Given the description of an element on the screen output the (x, y) to click on. 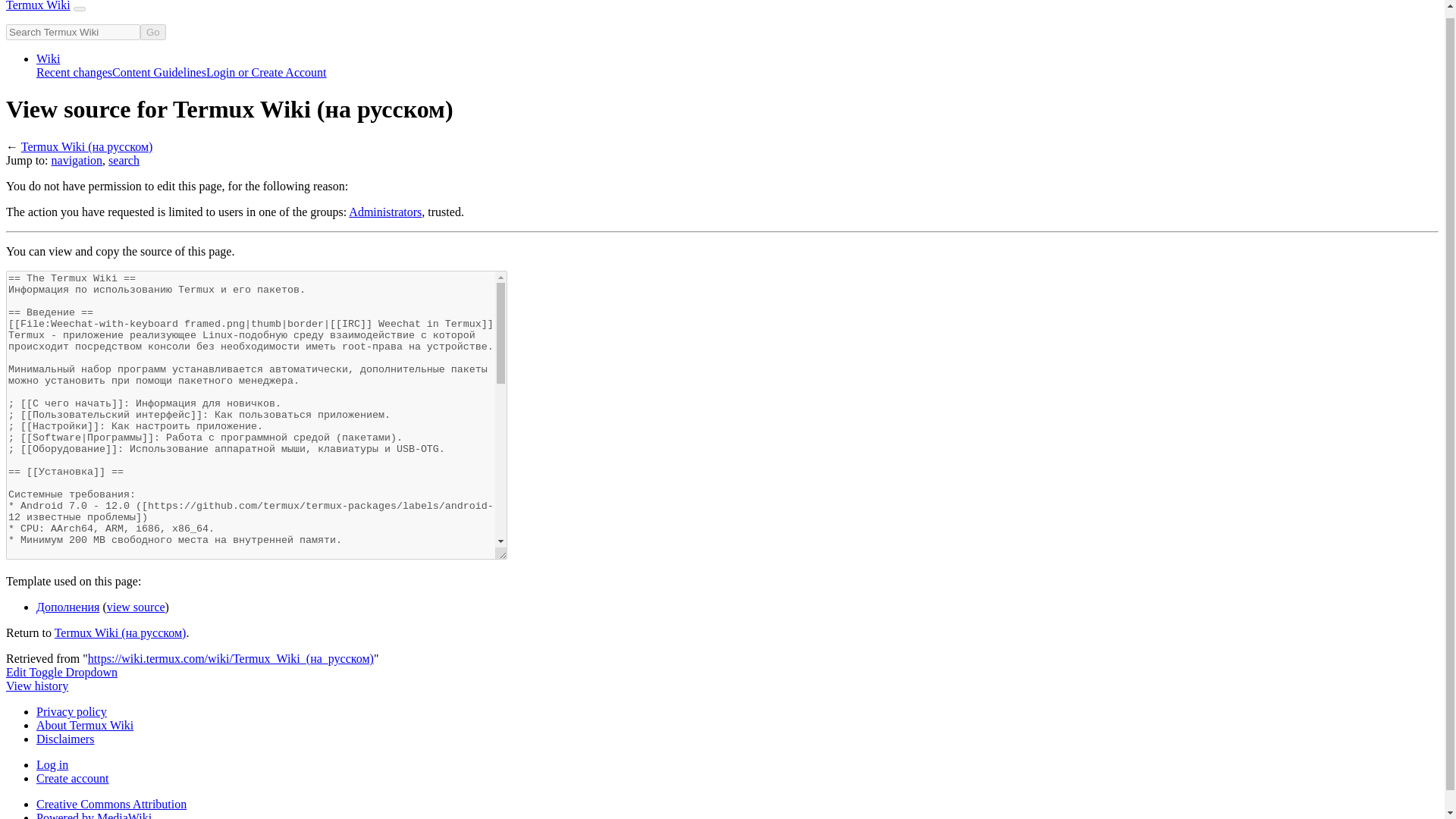
view source (135, 606)
Create account (72, 778)
Log in (52, 764)
Go to a page with this exact name if it exists (152, 32)
Administrators (385, 211)
Wiki (47, 58)
Toggle Dropdown (73, 671)
Login or Create Account (266, 72)
Disclaimers (65, 738)
Recent changes (74, 72)
Go (152, 32)
search (123, 160)
Creative Commons Attribution (111, 803)
Content Guidelines (159, 72)
Go (152, 32)
